Given the description of an element on the screen output the (x, y) to click on. 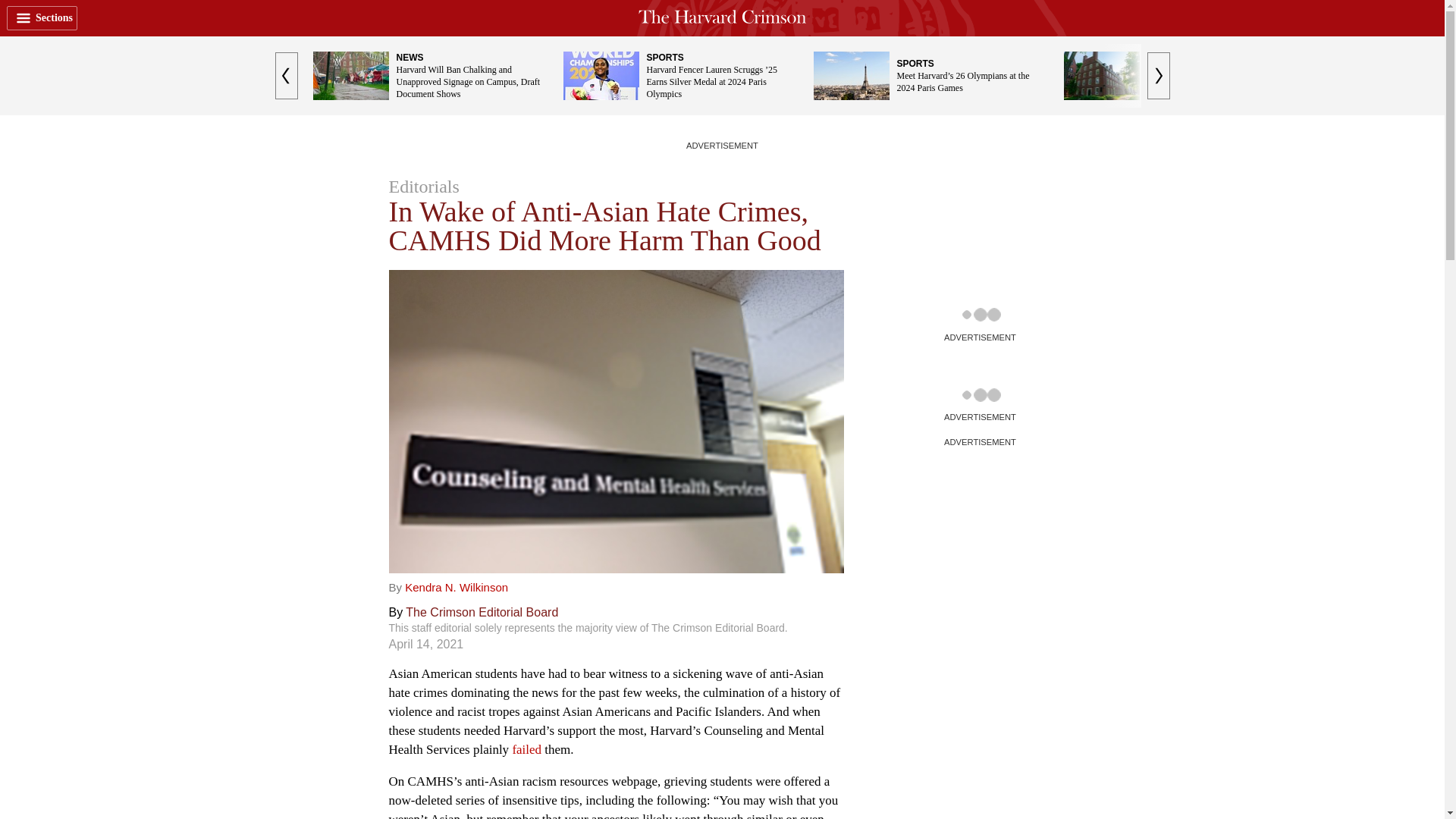
The Crimson Editorial Board (481, 612)
failed (526, 749)
Updated April 14, 2021 at 1:45 pm (425, 644)
Kendra N. Wilkinson (456, 586)
